Given the description of an element on the screen output the (x, y) to click on. 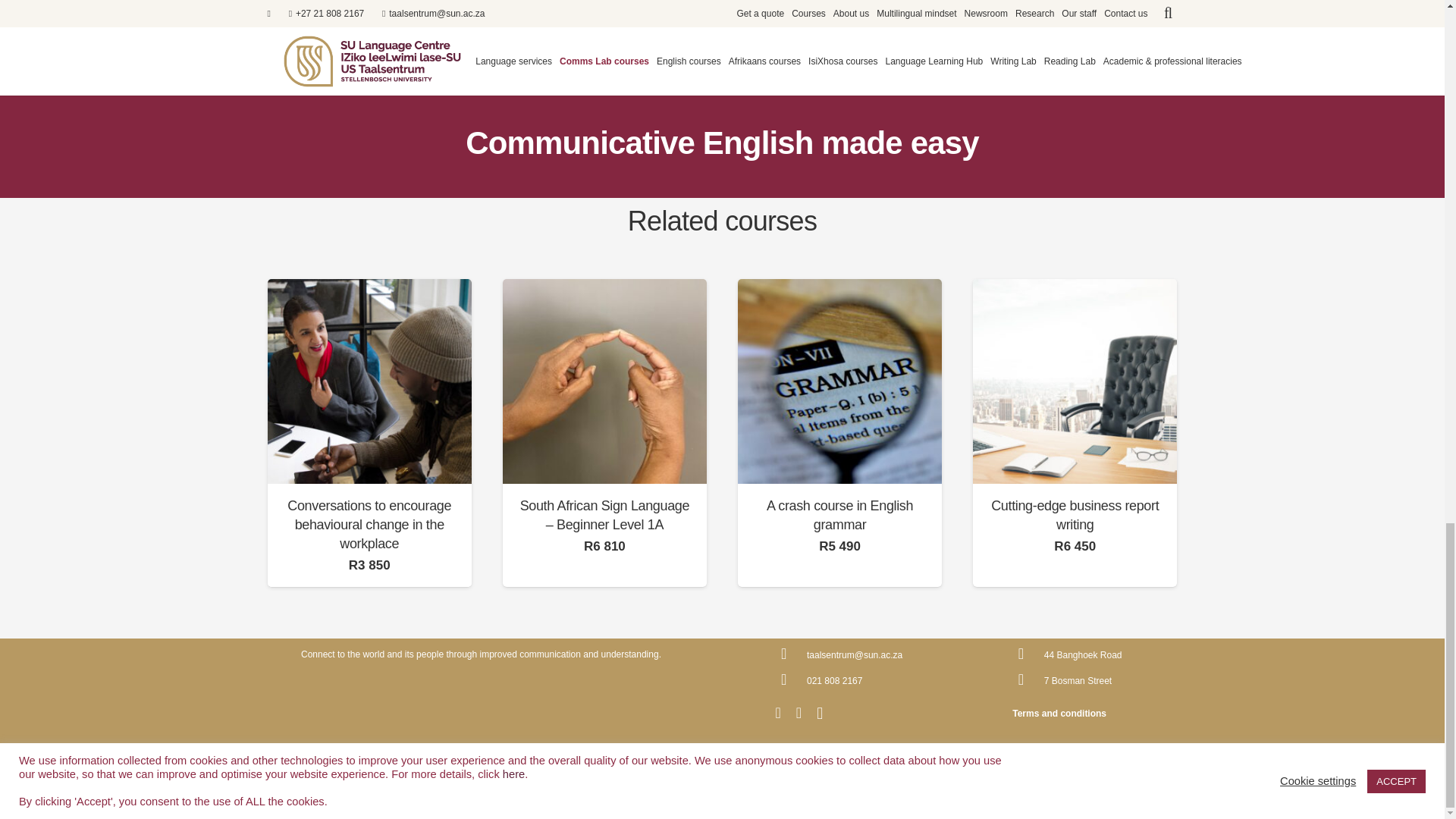
Contact us (484, 103)
Apply now (959, 103)
